Given the description of an element on the screen output the (x, y) to click on. 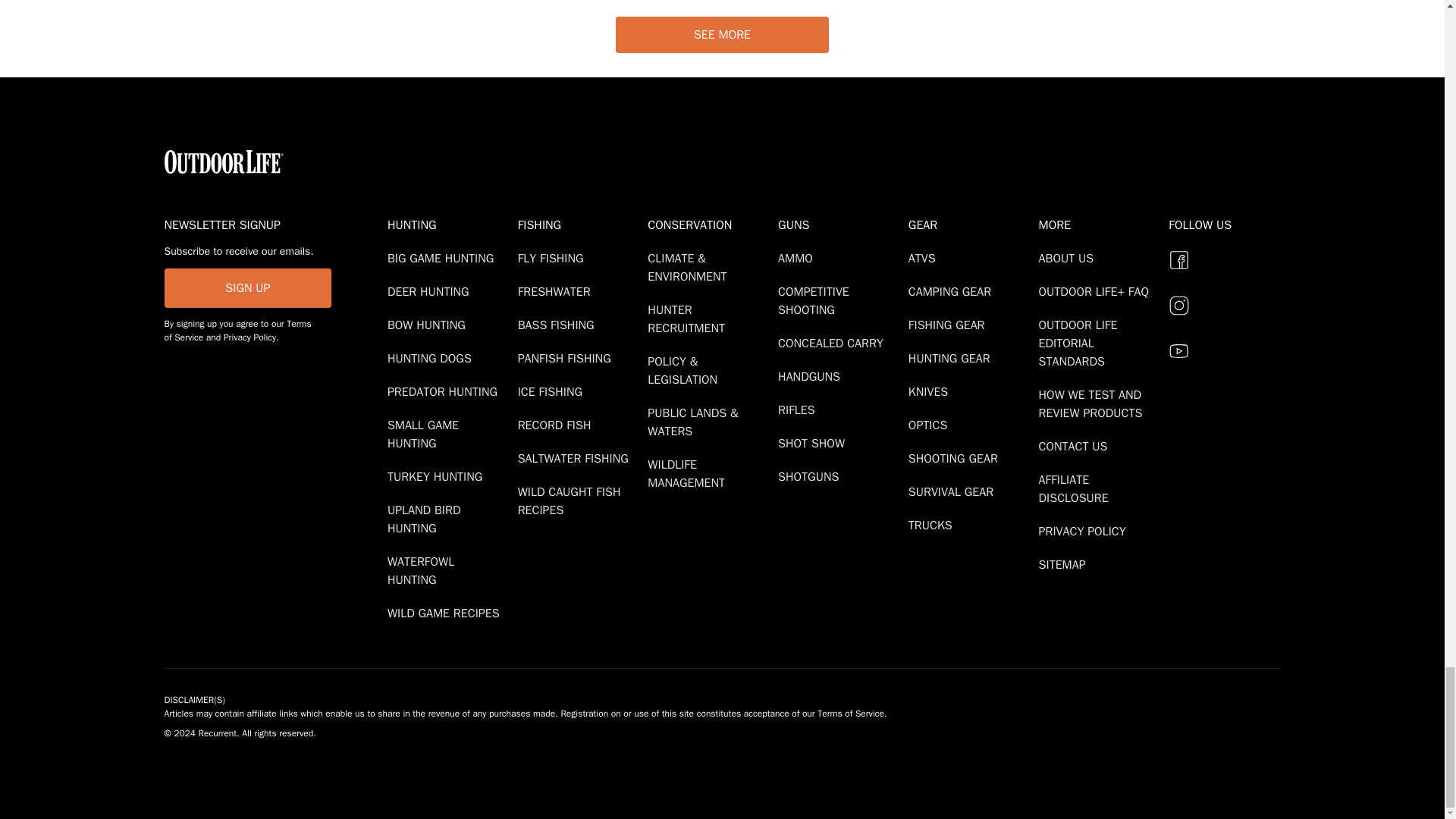
Fly Fishing (553, 258)
Deer Hunting (431, 291)
Fishing (580, 225)
Big Game Hunting (443, 258)
Conservation (709, 225)
Hunting (449, 225)
